Given the description of an element on the screen output the (x, y) to click on. 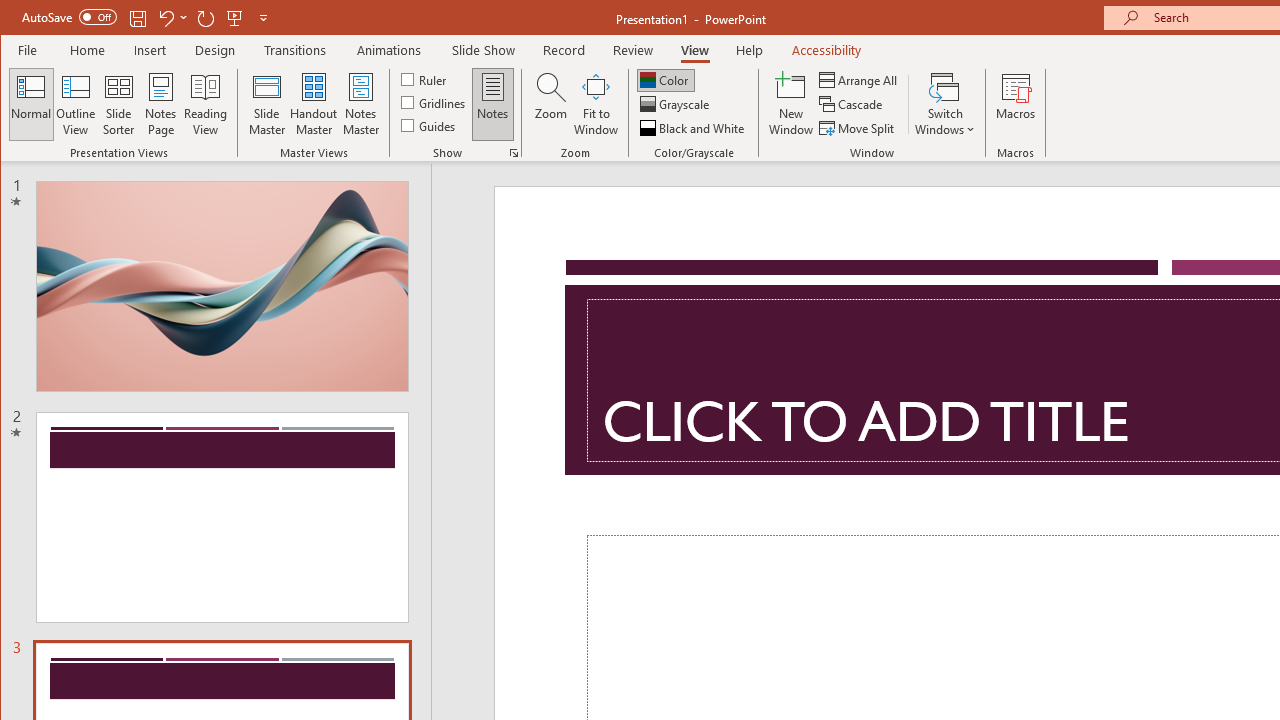
Fit to Window (596, 104)
Slide Master (266, 104)
New Window (791, 104)
Zoom... (550, 104)
Notes Master (360, 104)
Guides (430, 124)
Switch Windows (944, 104)
Ruler (425, 78)
